Given the description of an element on the screen output the (x, y) to click on. 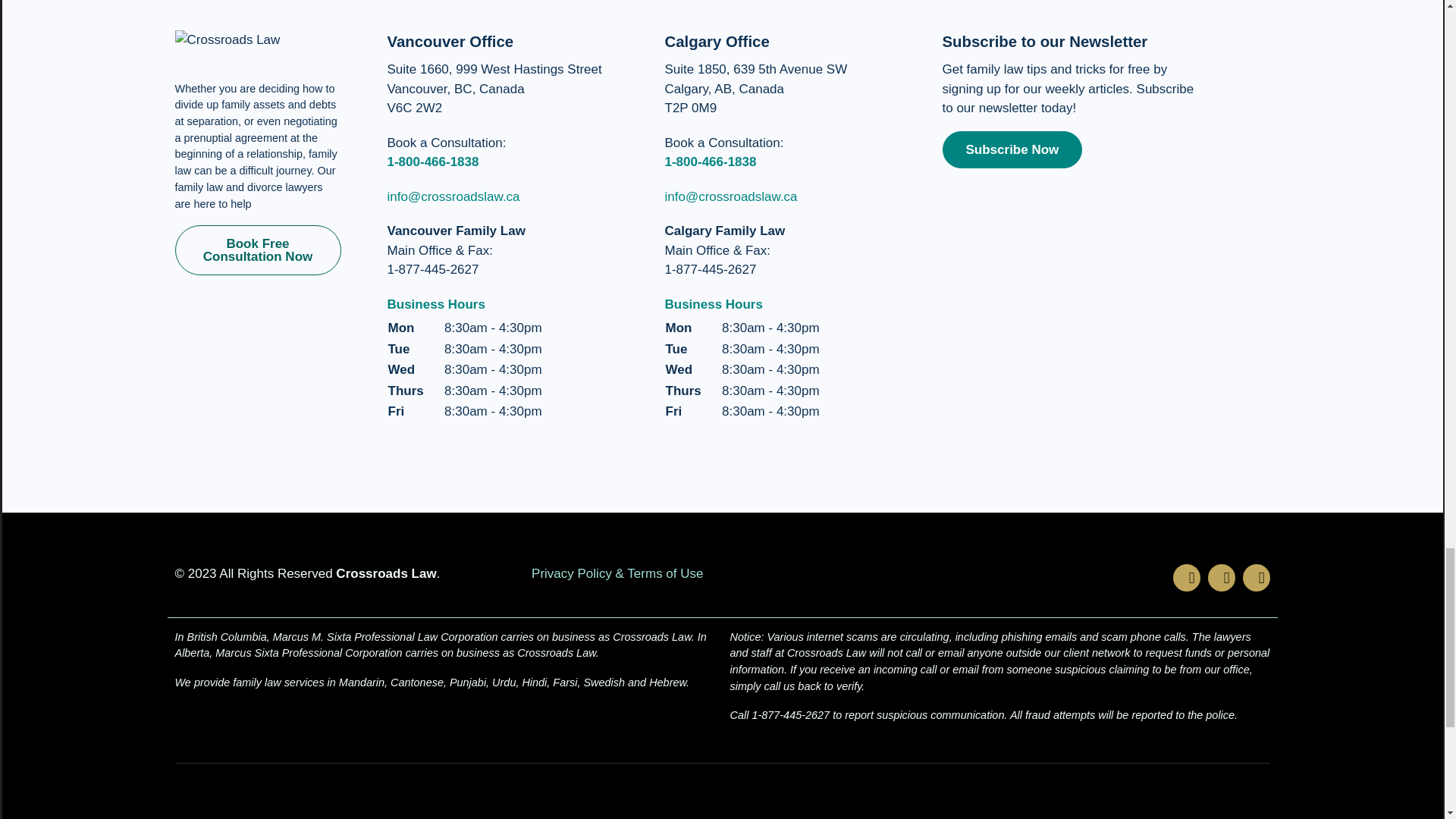
Instagram (1220, 577)
Facebook (1185, 577)
Linked In (1255, 577)
